Given the description of an element on the screen output the (x, y) to click on. 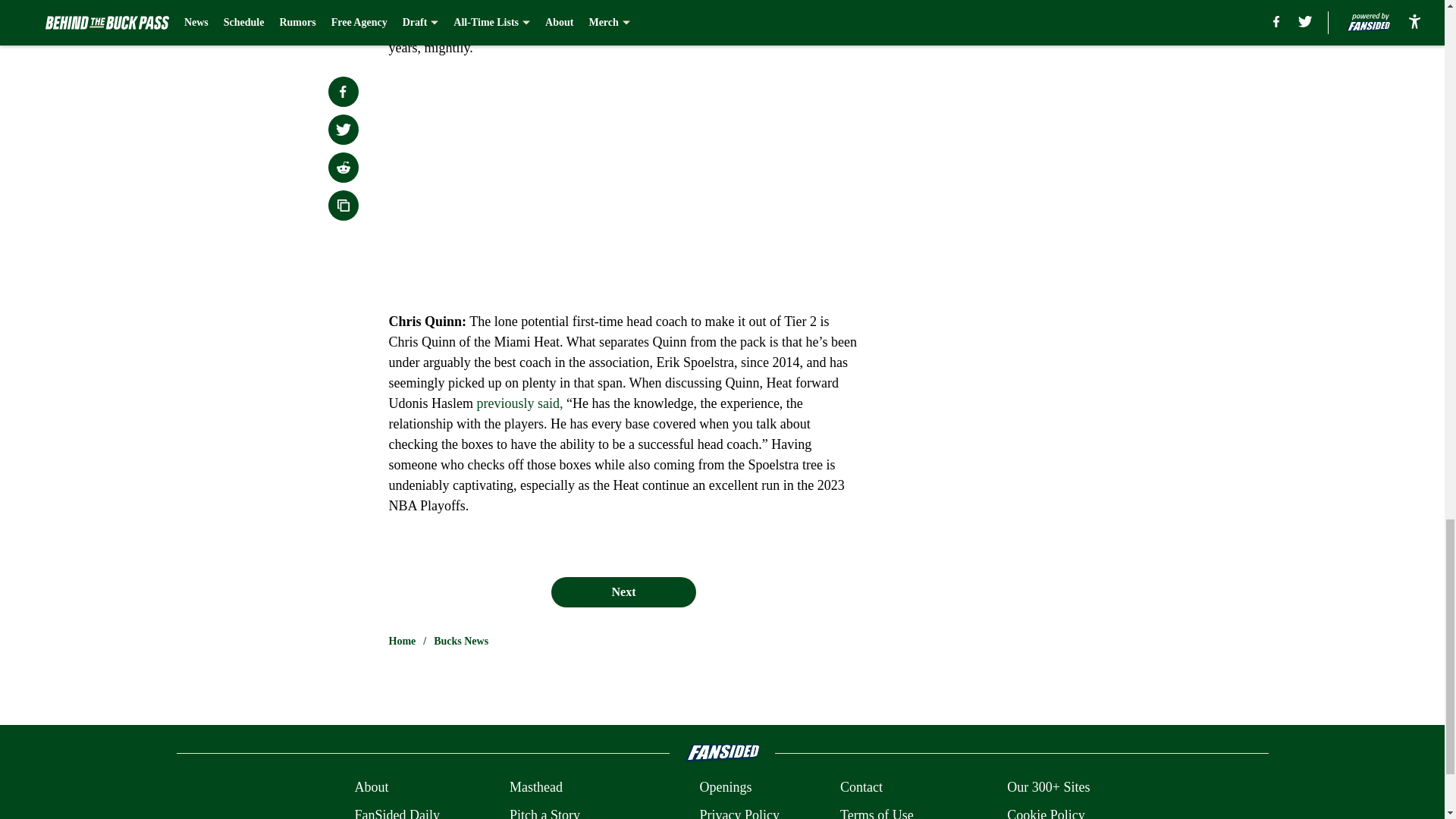
Bucks News (460, 641)
Home (401, 641)
Next (622, 592)
previously said, (519, 403)
Openings (724, 787)
Masthead (535, 787)
About (370, 787)
